Given the description of an element on the screen output the (x, y) to click on. 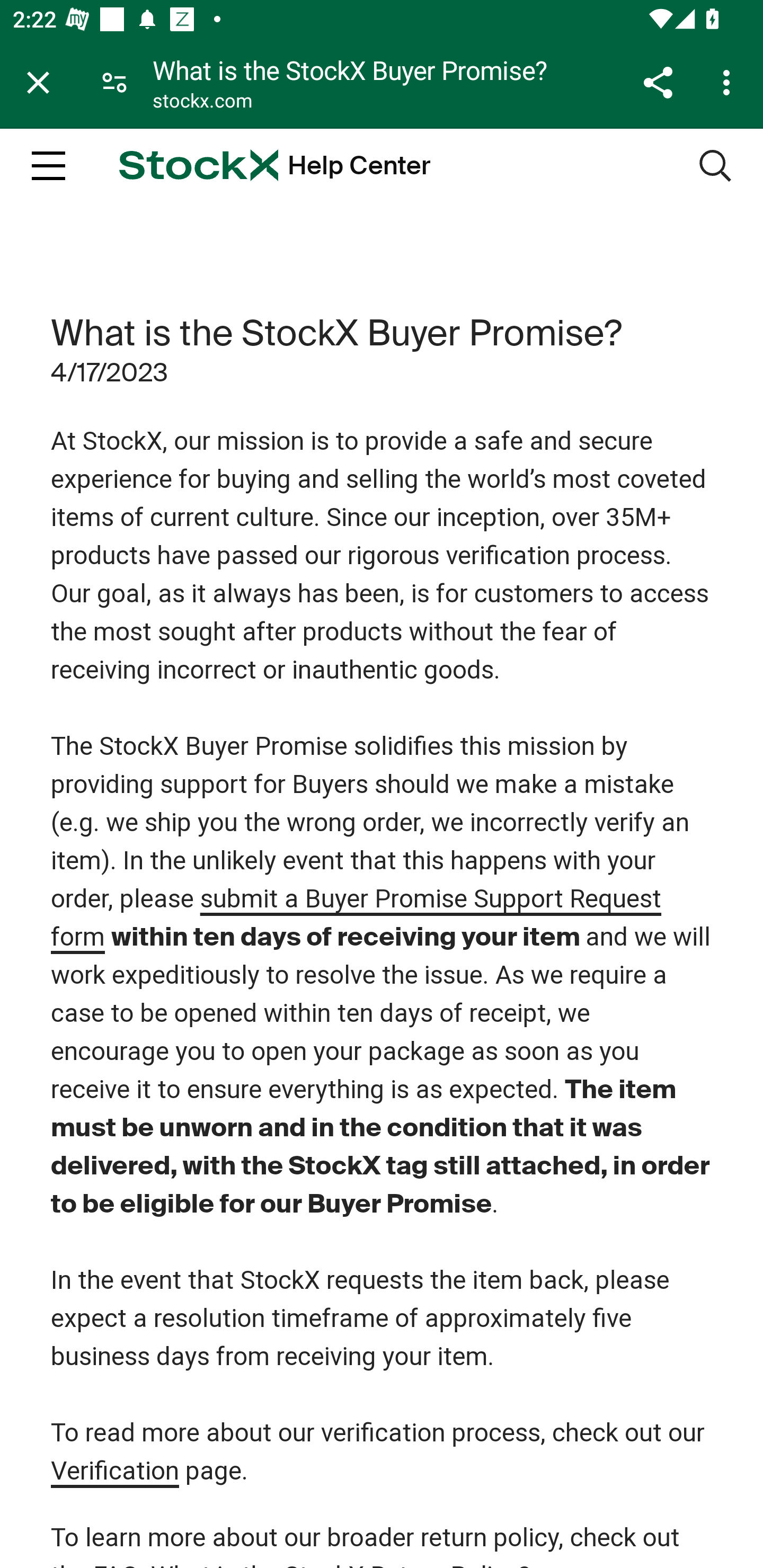
Close tab (38, 82)
Share (657, 82)
Customize and control Google Chrome (729, 82)
Connection is secure (114, 81)
stockx.com (202, 103)
opens in a new tab StockX Logo (198, 165)
Help Center (359, 165)
submit a Buyer Promise Support Request form (357, 918)
Verification (115, 1471)
